Given the description of an element on the screen output the (x, y) to click on. 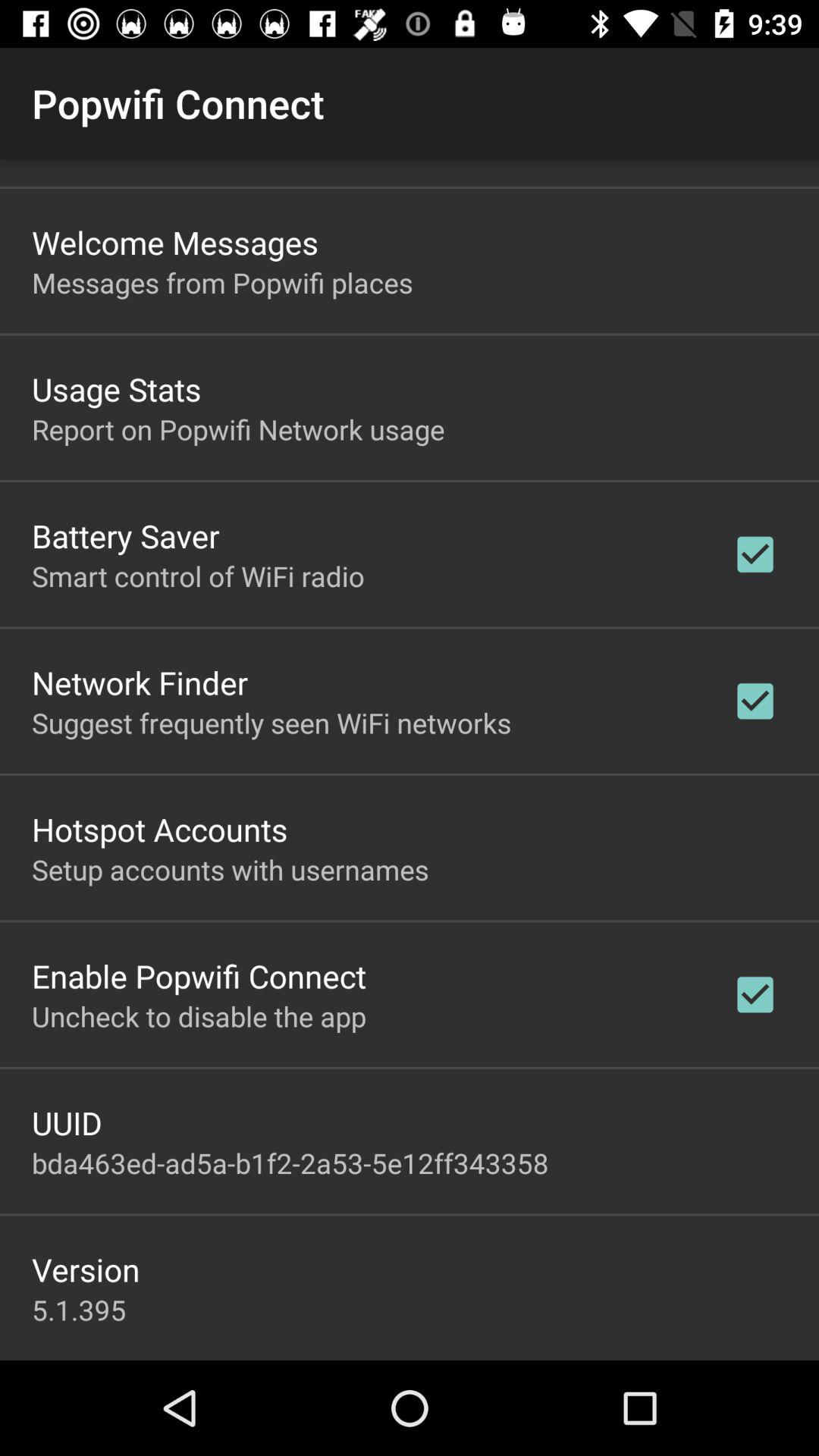
open the app below the popwifi connect icon (174, 241)
